Given the description of an element on the screen output the (x, y) to click on. 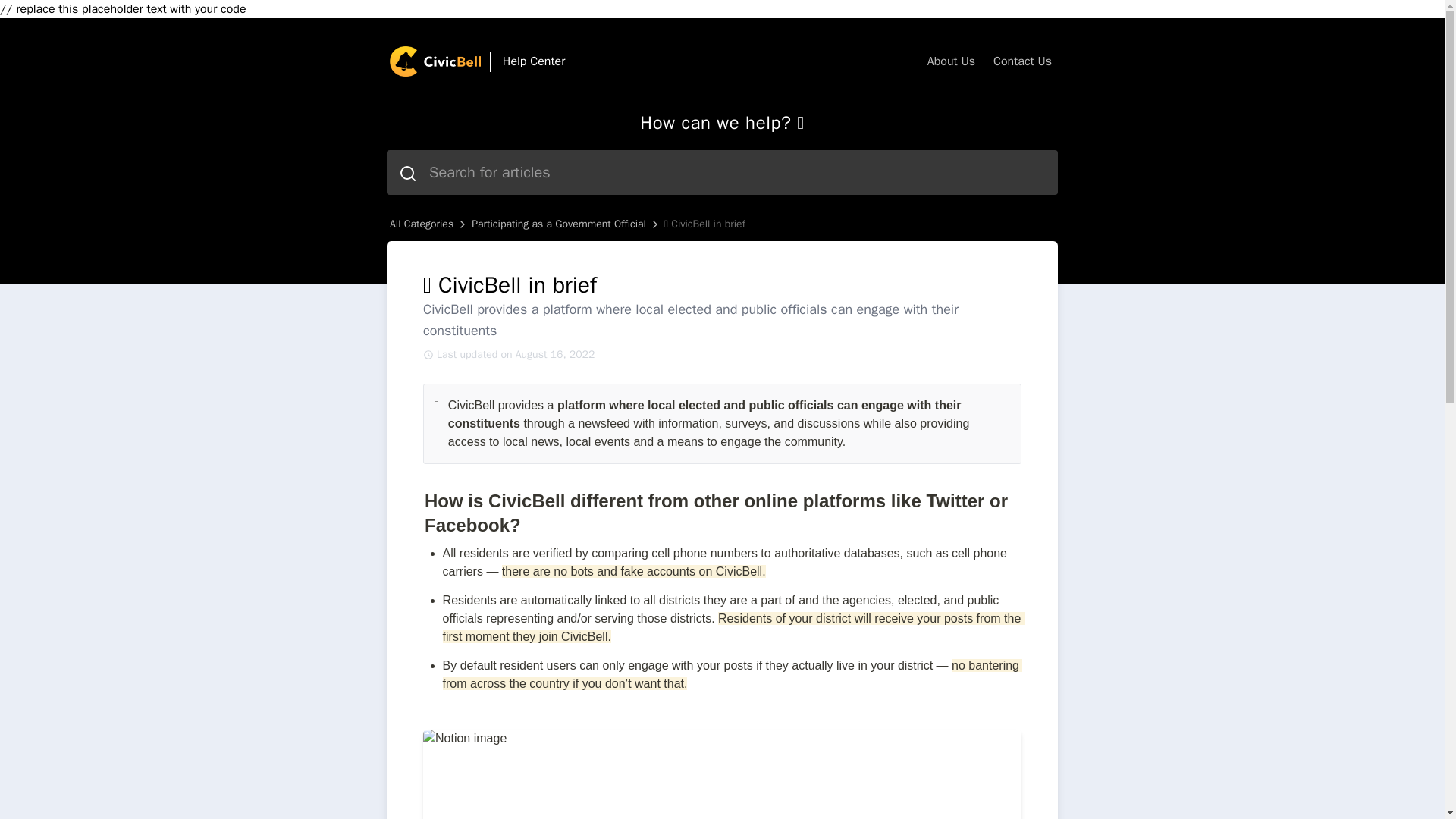
Participating as a Government Official (558, 224)
About Us (951, 61)
All Categories (421, 224)
Contact Us (1022, 61)
